Given the description of an element on the screen output the (x, y) to click on. 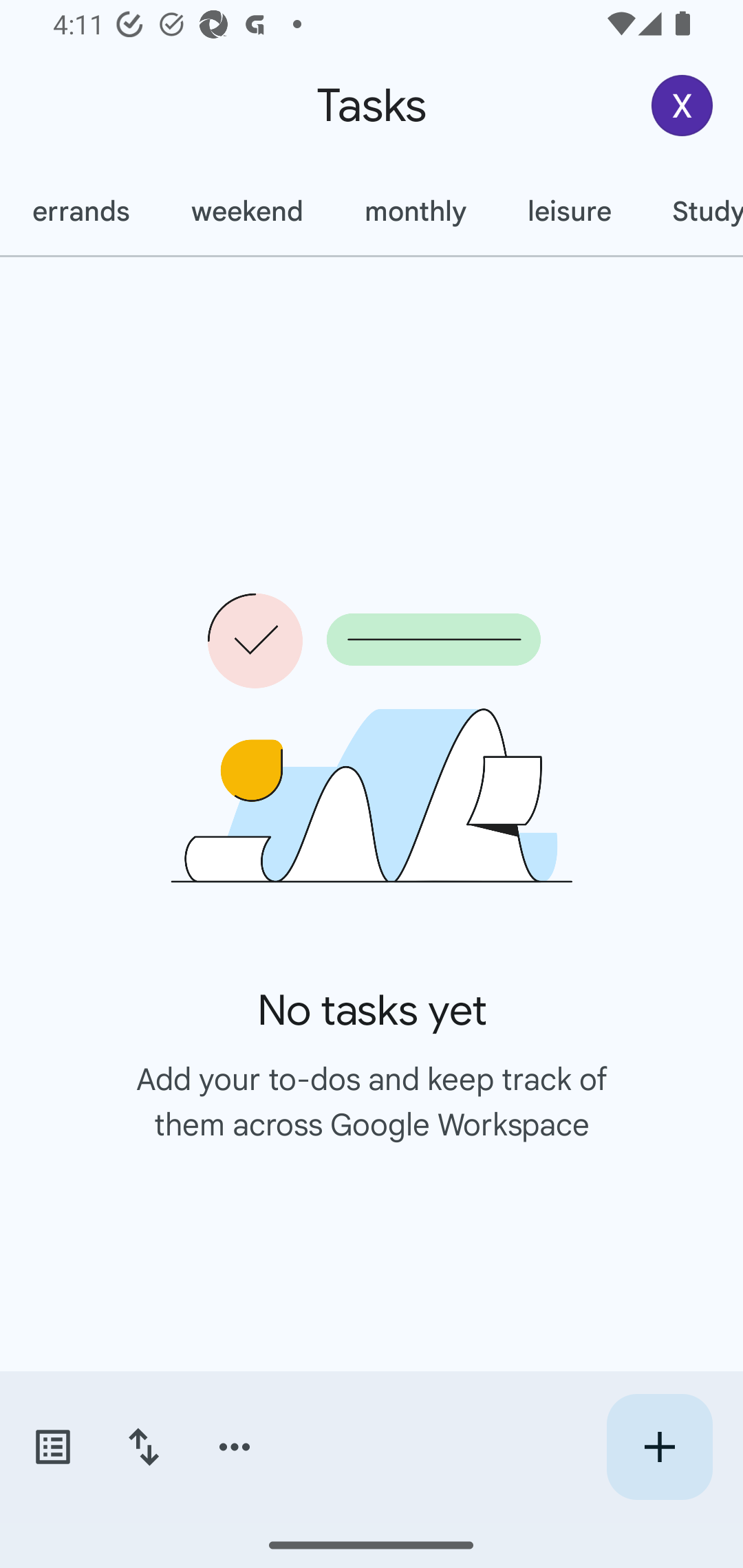
errands (80, 211)
weekend (246, 211)
monthly (415, 211)
leisure (569, 211)
Study (692, 211)
Switch task lists (52, 1447)
Create new task (659, 1446)
Change sort order (143, 1446)
More options (234, 1446)
